Given the description of an element on the screen output the (x, y) to click on. 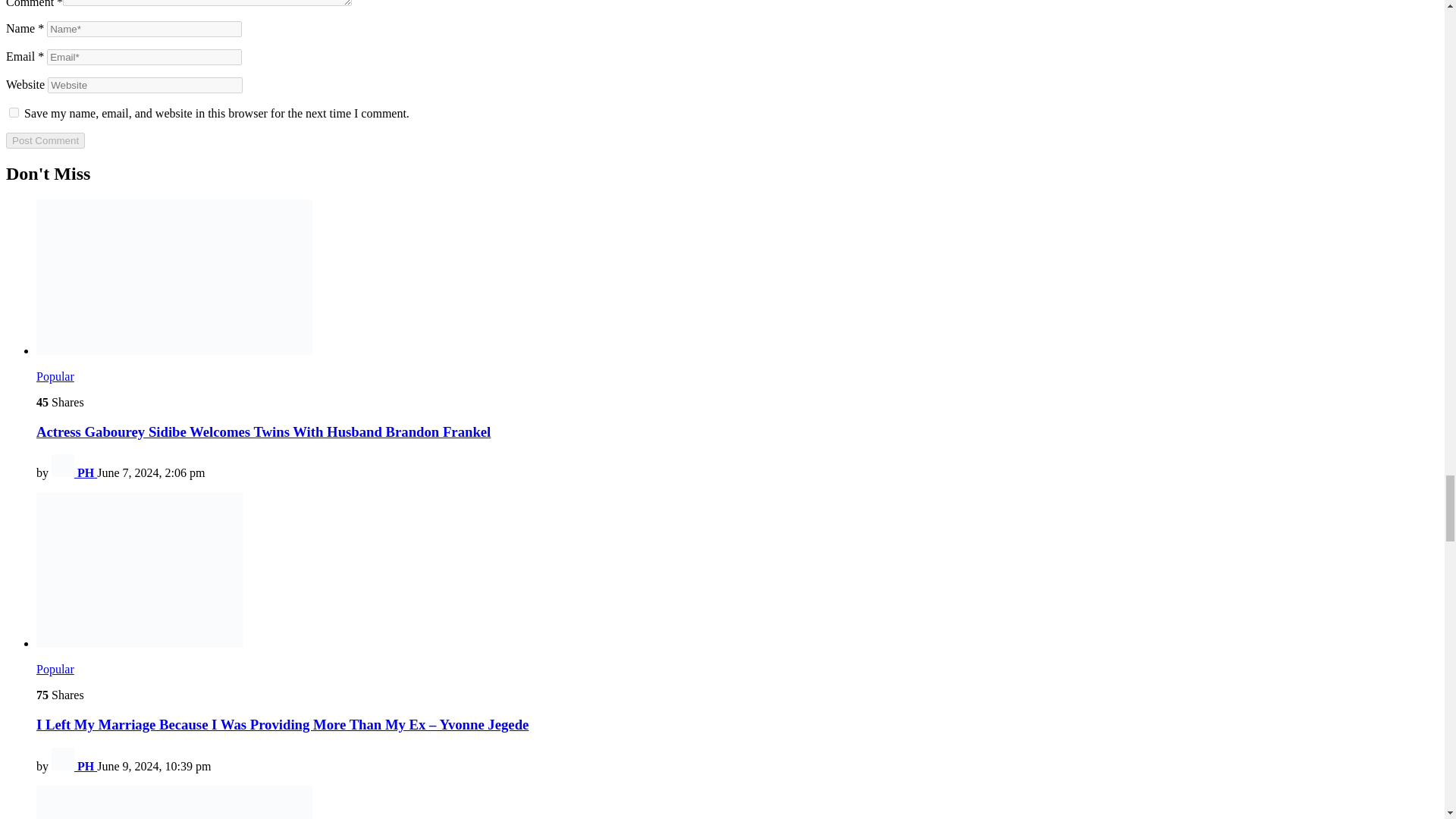
Post Comment (44, 140)
yes (13, 112)
